Given the description of an element on the screen output the (x, y) to click on. 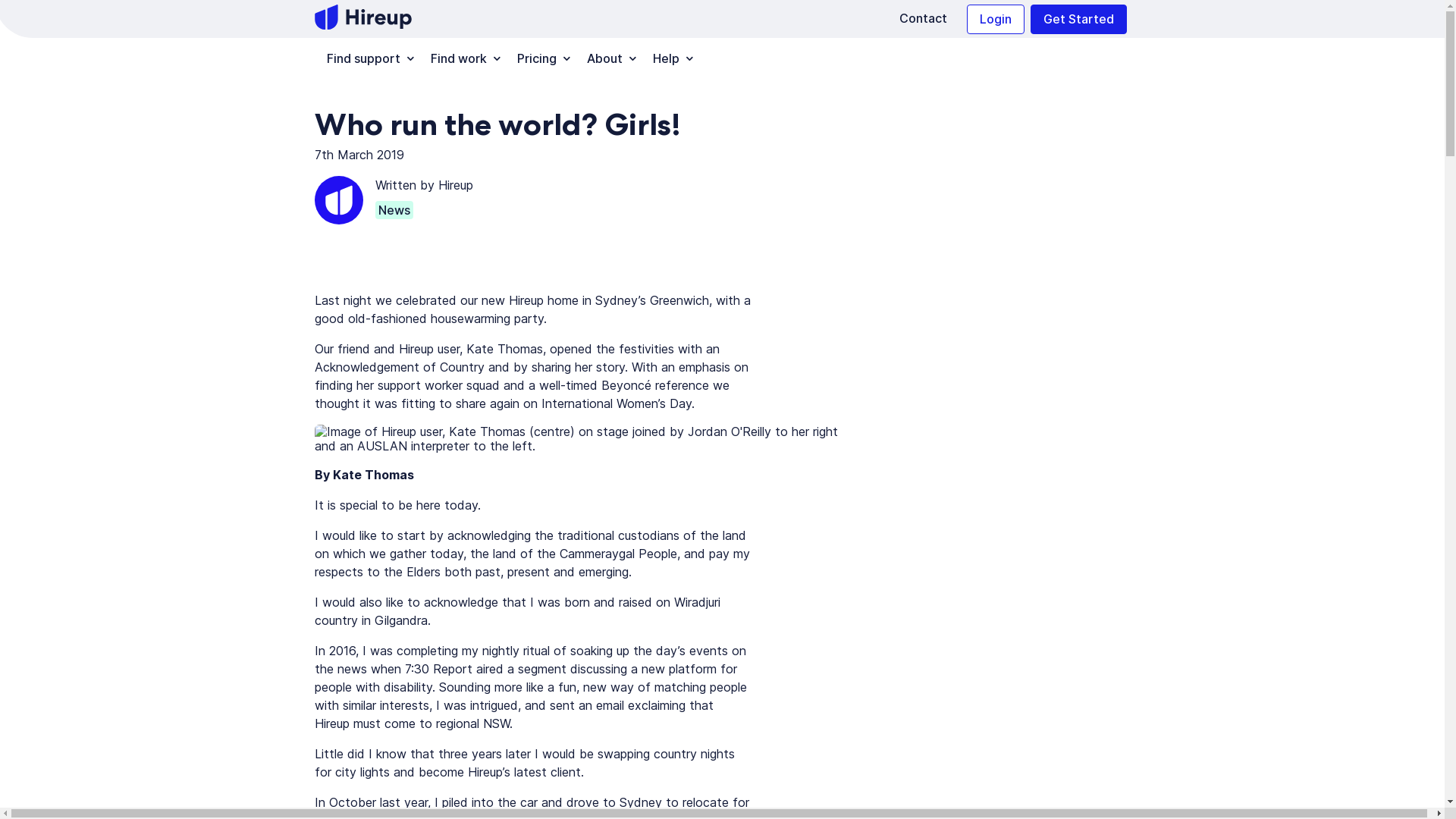
Get Started Element type: text (1078, 19)
Find work Element type: text (461, 58)
Pricing Element type: text (539, 58)
About Element type: text (607, 58)
Login Element type: text (995, 19)
Find support Element type: text (366, 58)
Contact Element type: text (922, 18)
Help Element type: text (668, 58)
